Given the description of an element on the screen output the (x, y) to click on. 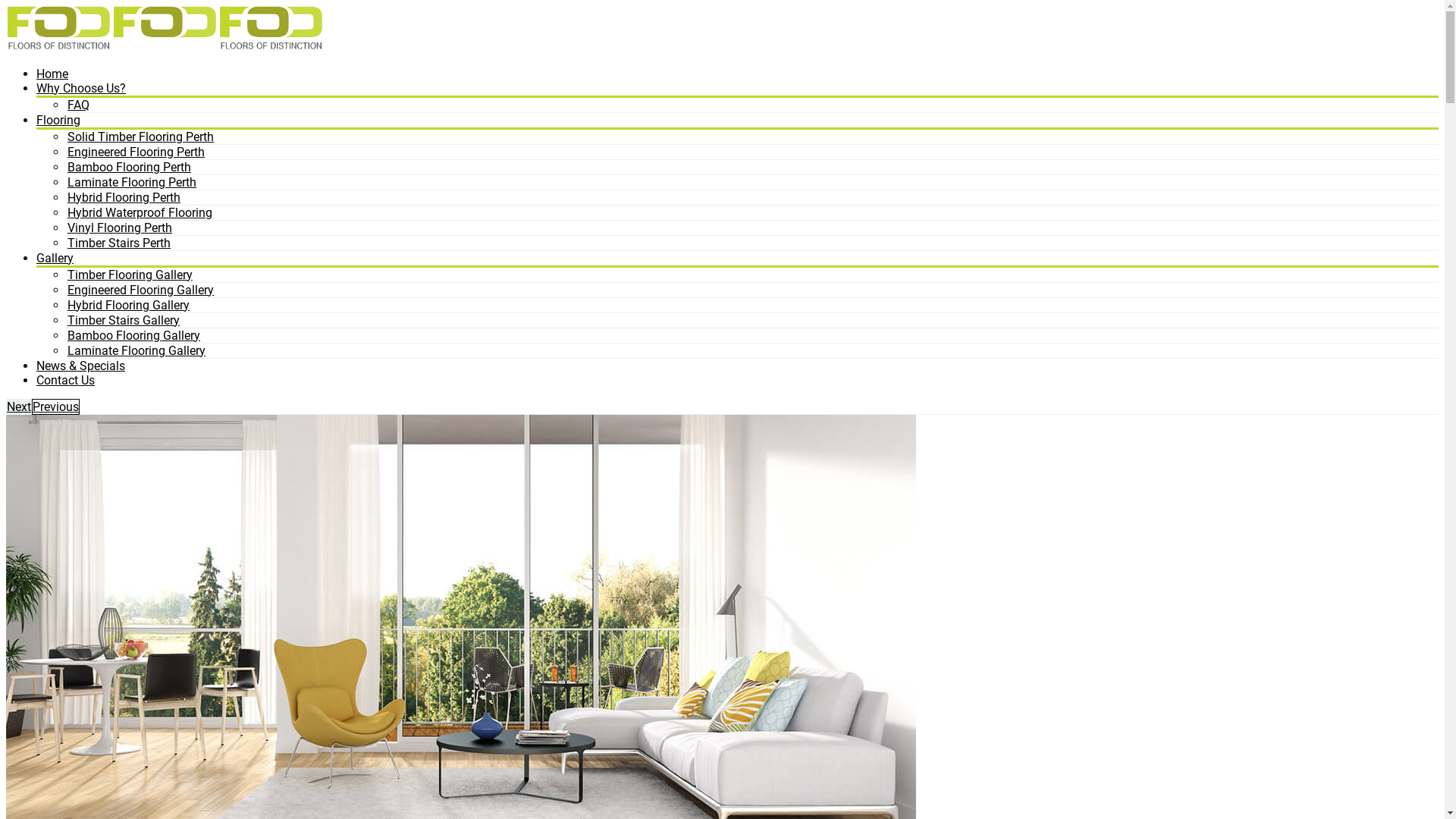
Floors of Distinction Element type: hover (271, 28)
Bamboo Flooring Gallery Element type: text (133, 334)
Flooring Element type: text (58, 119)
Floors of Distinction Element type: hover (165, 28)
Timber Stairs Gallery Element type: text (122, 319)
Solid Timber Flooring Perth Element type: text (139, 135)
Floors of Distinction Element type: hover (59, 28)
Laminate Flooring Gallery Element type: text (135, 349)
Engineered Flooring Perth Element type: text (135, 151)
Contact Us Element type: text (65, 380)
Timber Stairs Perth Element type: text (118, 242)
Engineered Flooring Gallery Element type: text (139, 289)
Hybrid Waterproof Flooring Element type: text (139, 211)
Laminate Flooring Perth Element type: text (131, 181)
Floors of Distinction Element type: hover (377, 28)
News & Specials Element type: text (80, 364)
Gallery Element type: text (54, 257)
Hybrid Flooring Gallery Element type: text (127, 304)
Vinyl Flooring Perth Element type: text (119, 226)
Why Choose Us? Element type: text (80, 87)
FAQ Element type: text (77, 104)
Previous Element type: text (55, 406)
Bamboo Flooring Perth Element type: text (128, 166)
Hybrid Flooring Perth Element type: text (123, 196)
Home Element type: text (52, 73)
Timber Flooring Gallery Element type: text (129, 273)
Next Element type: text (18, 406)
